Given the description of an element on the screen output the (x, y) to click on. 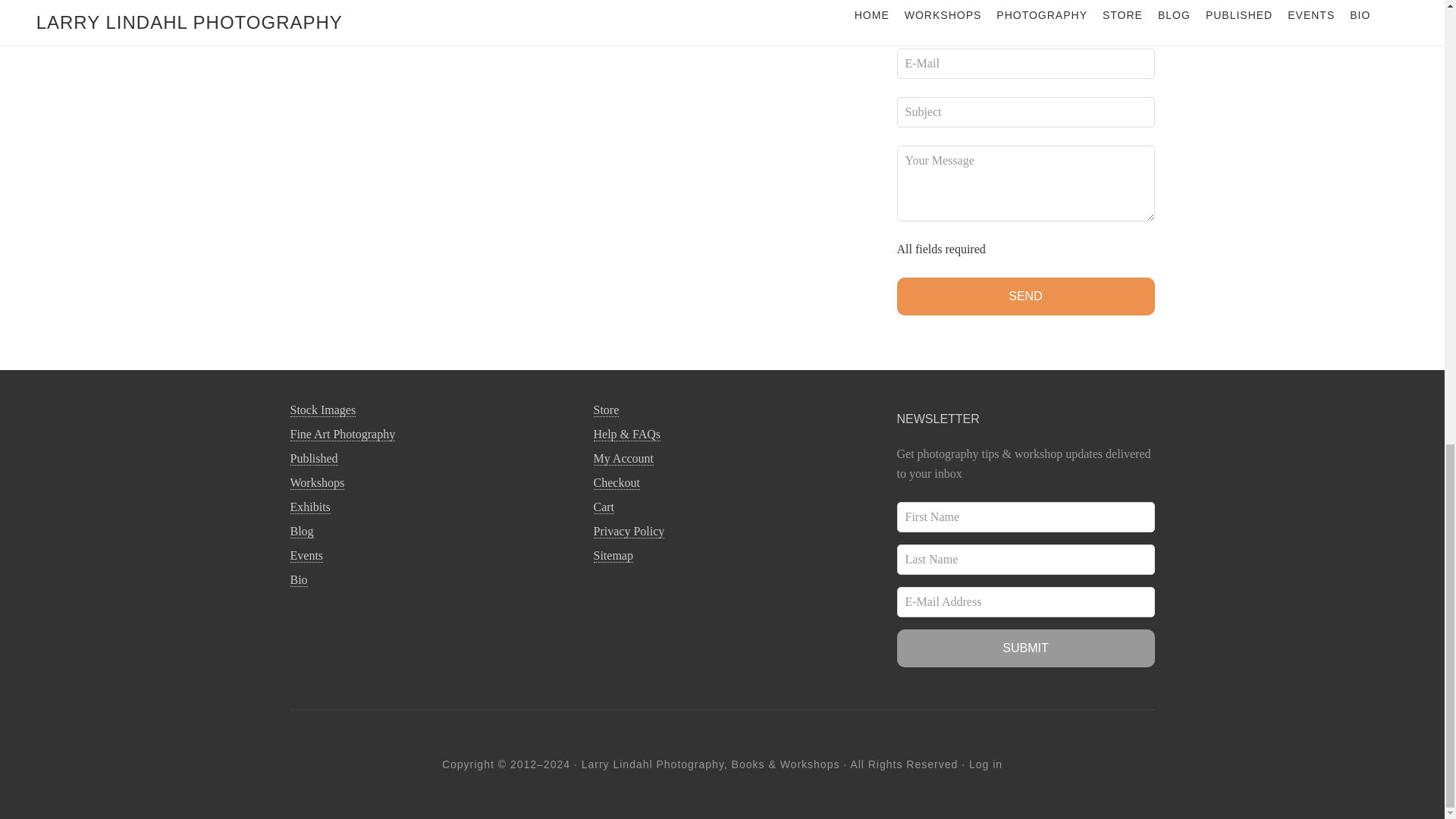
3 (349, 1)
Send (1025, 296)
4 (374, 1)
2 (325, 1)
1 (301, 1)
Submit (1025, 648)
